Given the description of an element on the screen output the (x, y) to click on. 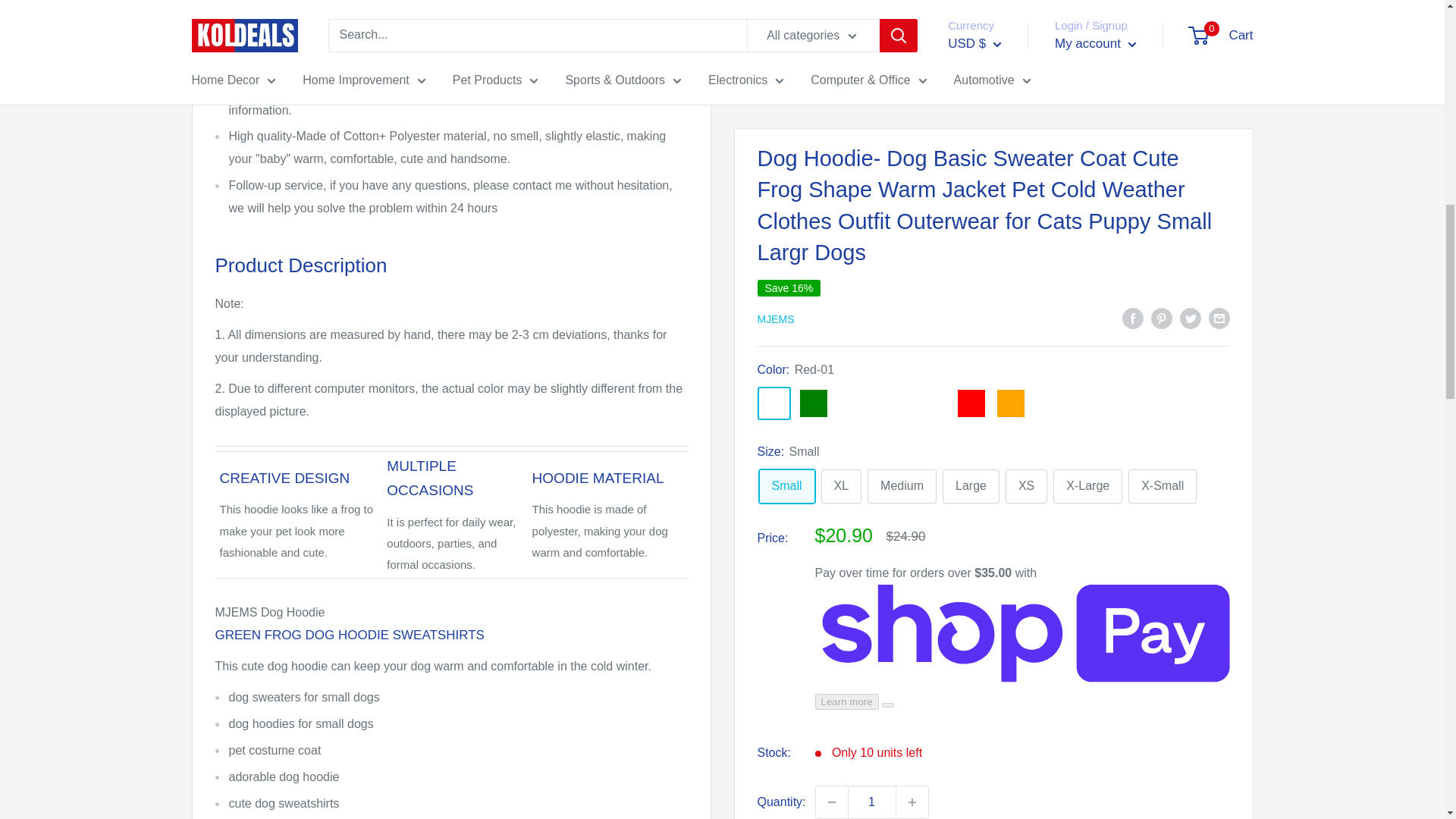
Decrease quantity by 1 (831, 47)
Increase quantity by 1 (912, 47)
1 (871, 47)
